Given the description of an element on the screen output the (x, y) to click on. 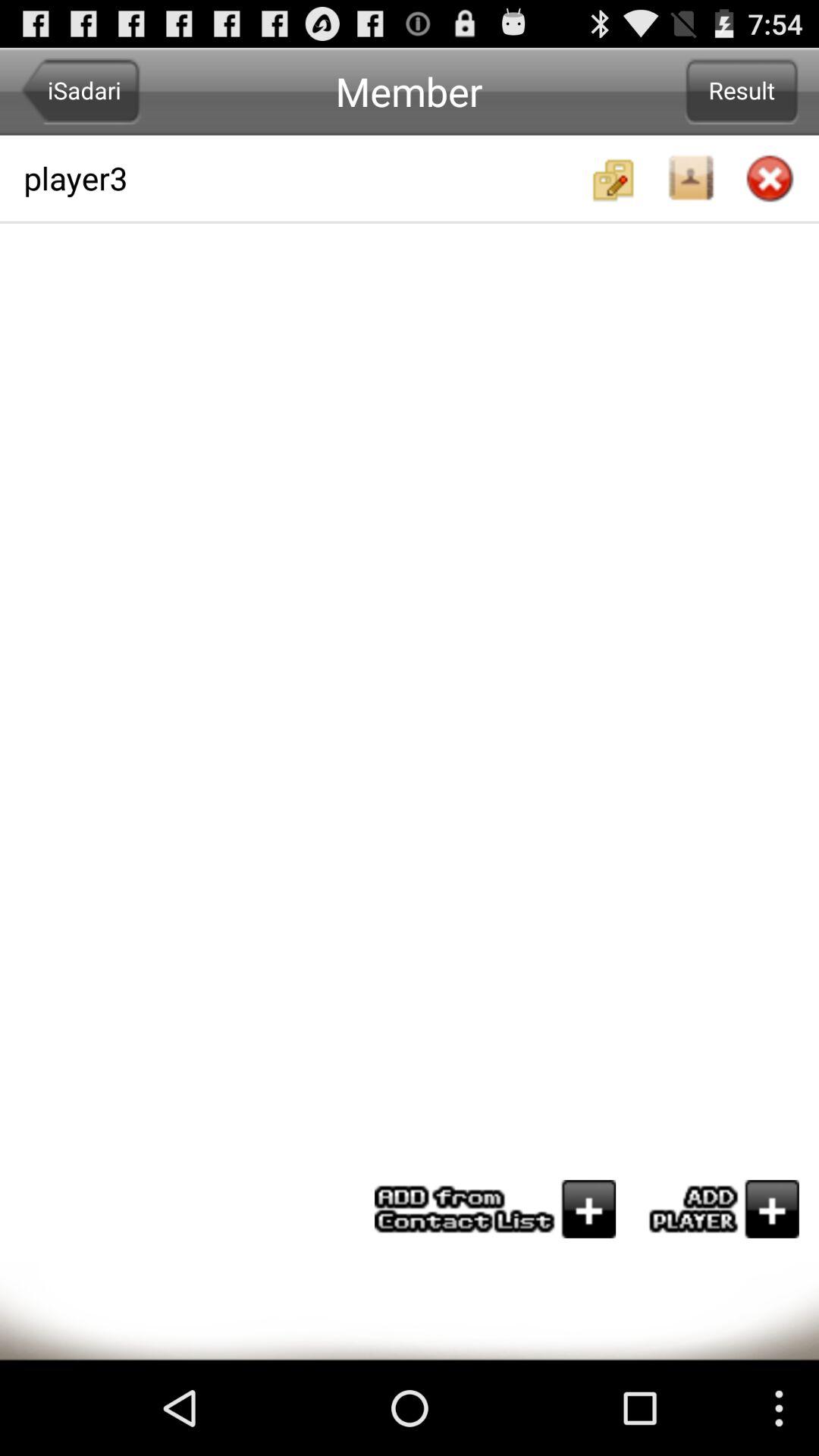
turn on isadari item (80, 91)
